Given the description of an element on the screen output the (x, y) to click on. 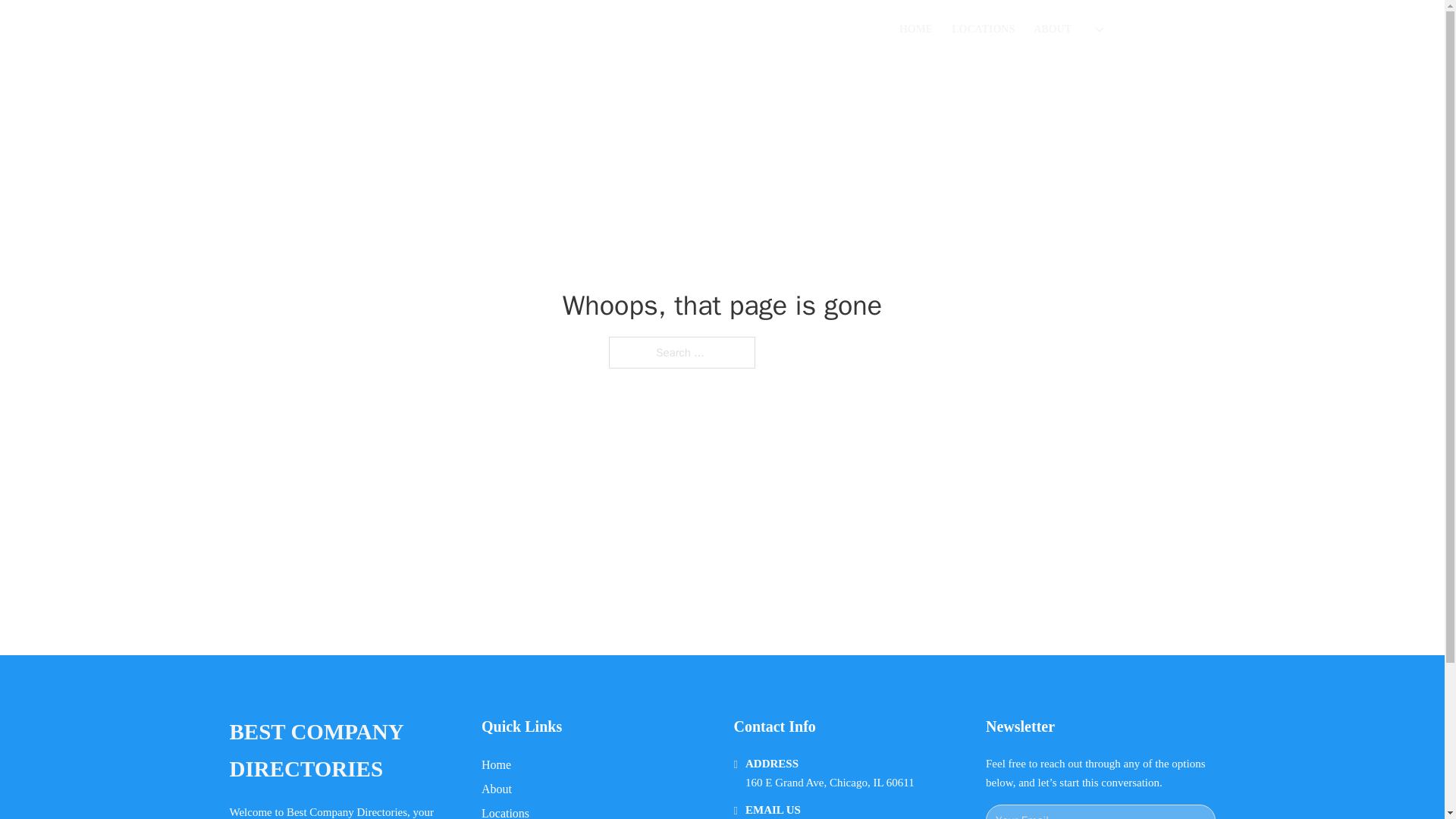
BEST COMPANY DIRECTORIES (343, 750)
Home (496, 764)
About (496, 788)
BEST COMPANY DIRECTORIES (455, 28)
HOME (915, 29)
Locations (505, 811)
LOCATIONS (982, 29)
